Given the description of an element on the screen output the (x, y) to click on. 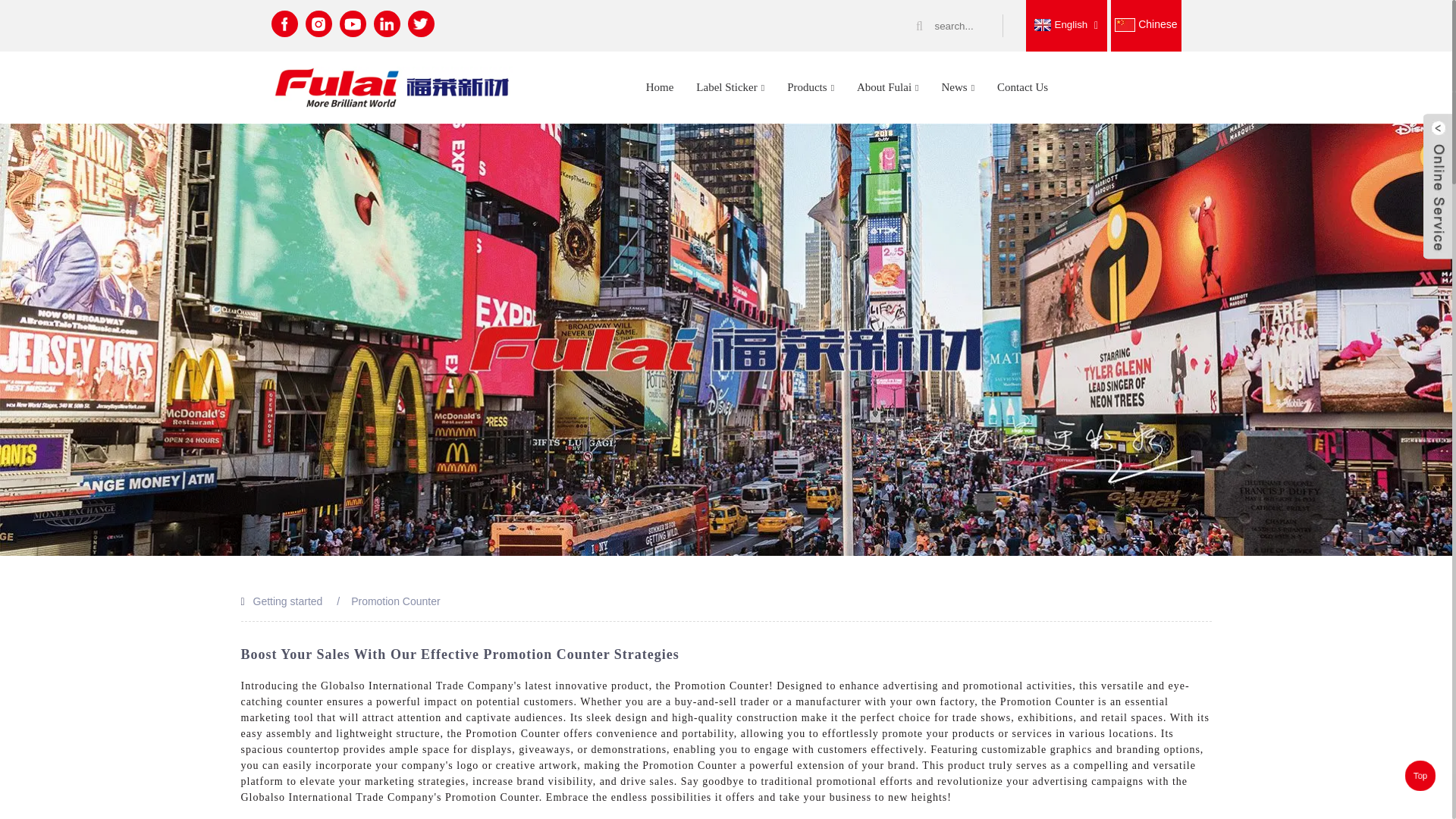
Chinese (1145, 24)
Products (810, 87)
English (1058, 24)
Label Sticker (729, 87)
